Given the description of an element on the screen output the (x, y) to click on. 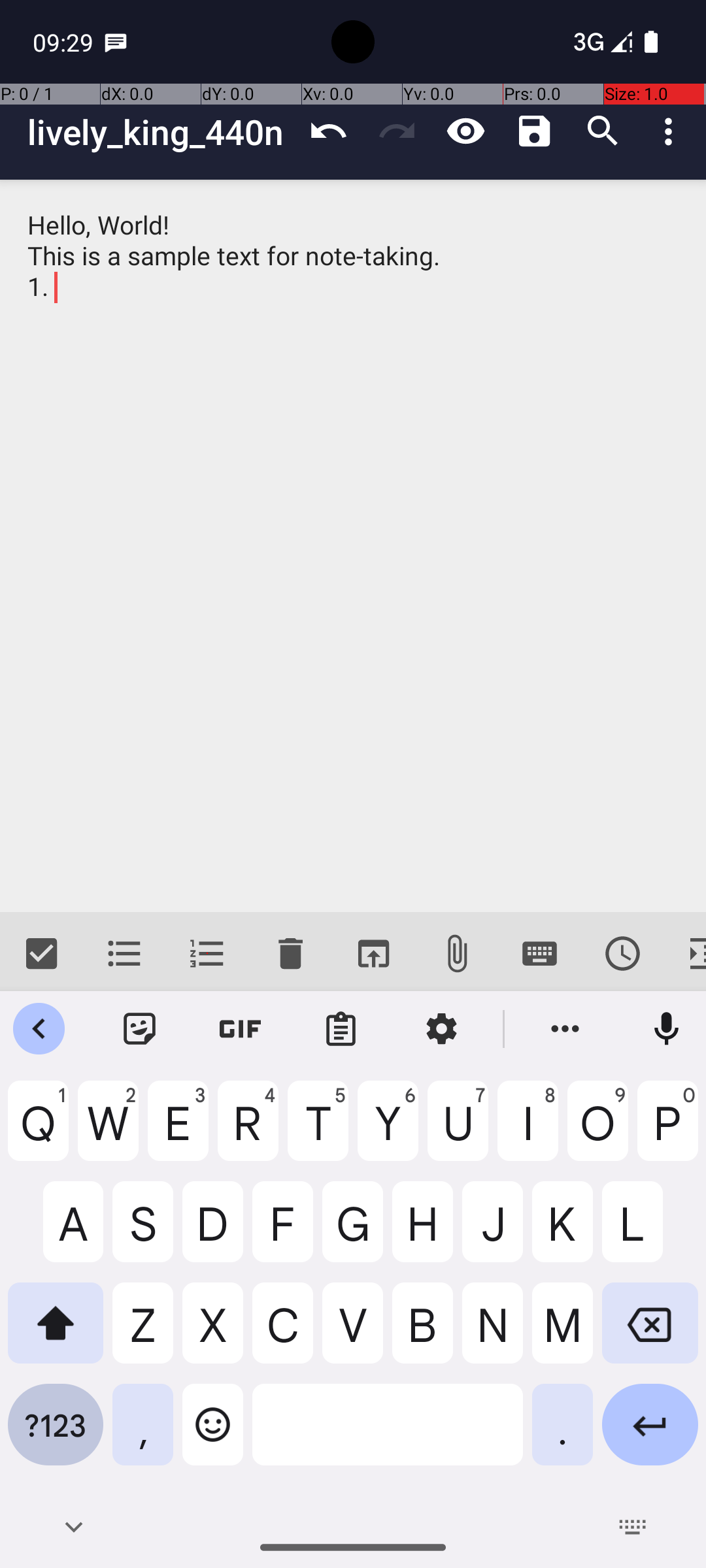
lively_king_440n Element type: android.widget.TextView (160, 131)
Hello, World!
This is a sample text for note-taking.
1.  Element type: android.widget.EditText (353, 545)
Ordered list Element type: android.widget.ImageView (207, 953)
Indent Element type: android.widget.ImageView (685, 953)
09:29 Element type: android.widget.TextView (64, 41)
